Given the description of an element on the screen output the (x, y) to click on. 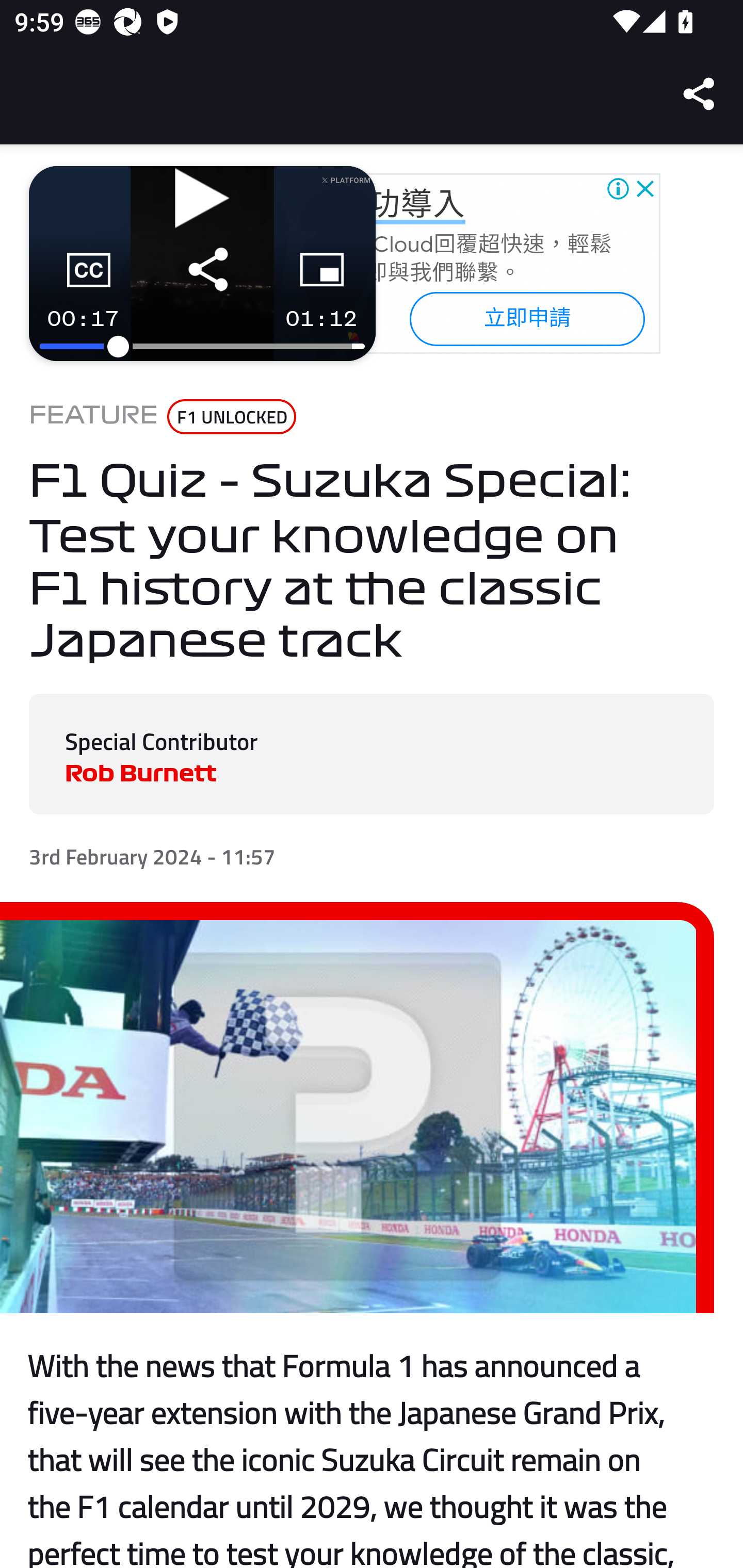
Share (699, 93)
立即申請 (526, 318)
